Given the description of an element on the screen output the (x, y) to click on. 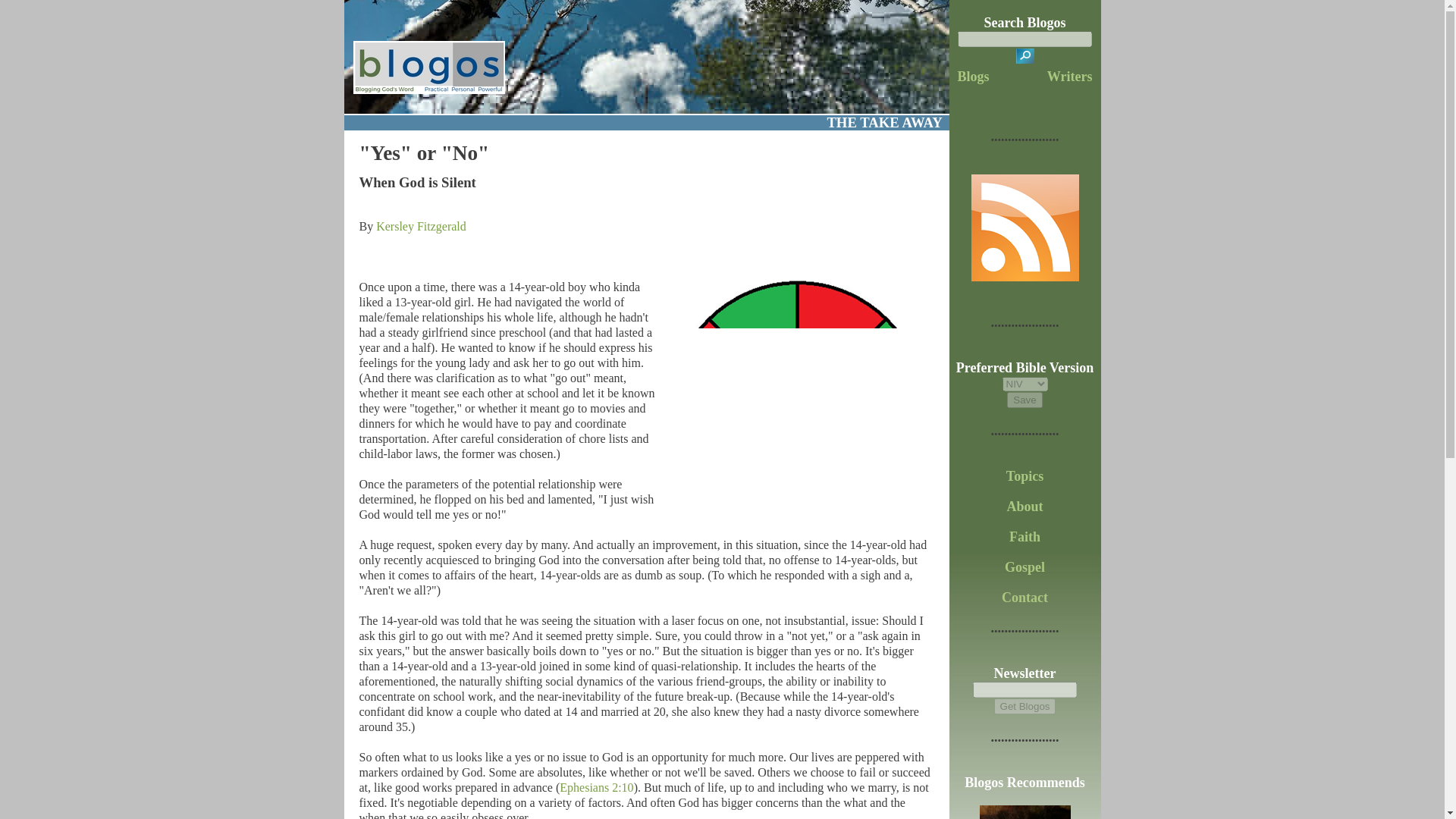
Kersley Fitzgerald (420, 226)
Save (1024, 399)
Subscribe to The Take Away (1024, 276)
Contact (1024, 597)
Gospel (1024, 566)
Blogs (974, 76)
Topics (1024, 476)
Writers (1069, 76)
Get Blogos (1025, 706)
Get Blogos (1025, 706)
